Given the description of an element on the screen output the (x, y) to click on. 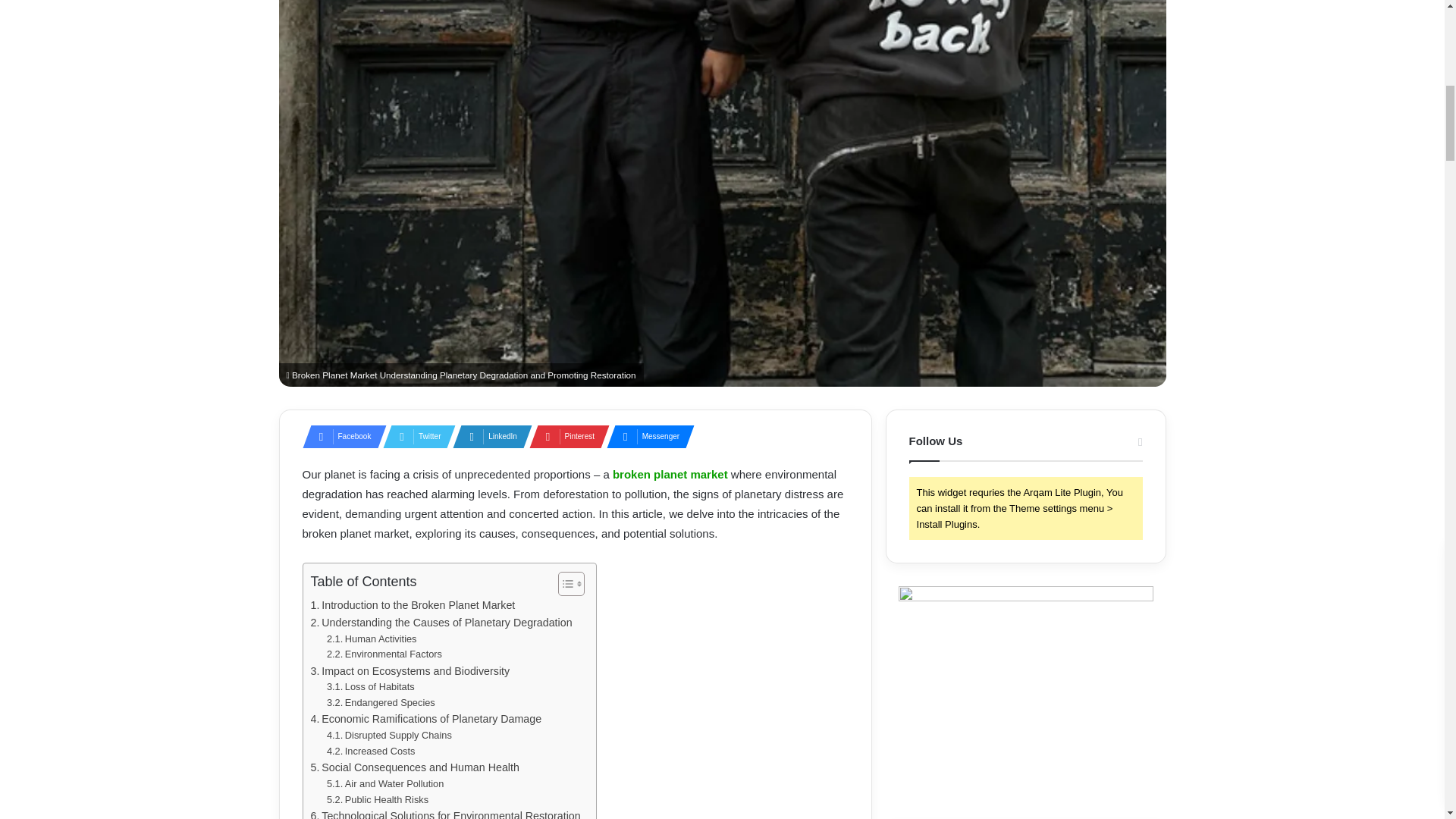
broken planet market (670, 473)
Pinterest (564, 436)
Human Activities (371, 639)
Facebook (339, 436)
Messenger (646, 436)
Twitter (414, 436)
Introduction to the Broken Planet Market (413, 605)
Introduction to the Broken Planet Market (413, 605)
Impact on Ecosystems and Biodiversity (411, 671)
Understanding the Causes of Planetary Degradation (441, 622)
